Given the description of an element on the screen output the (x, y) to click on. 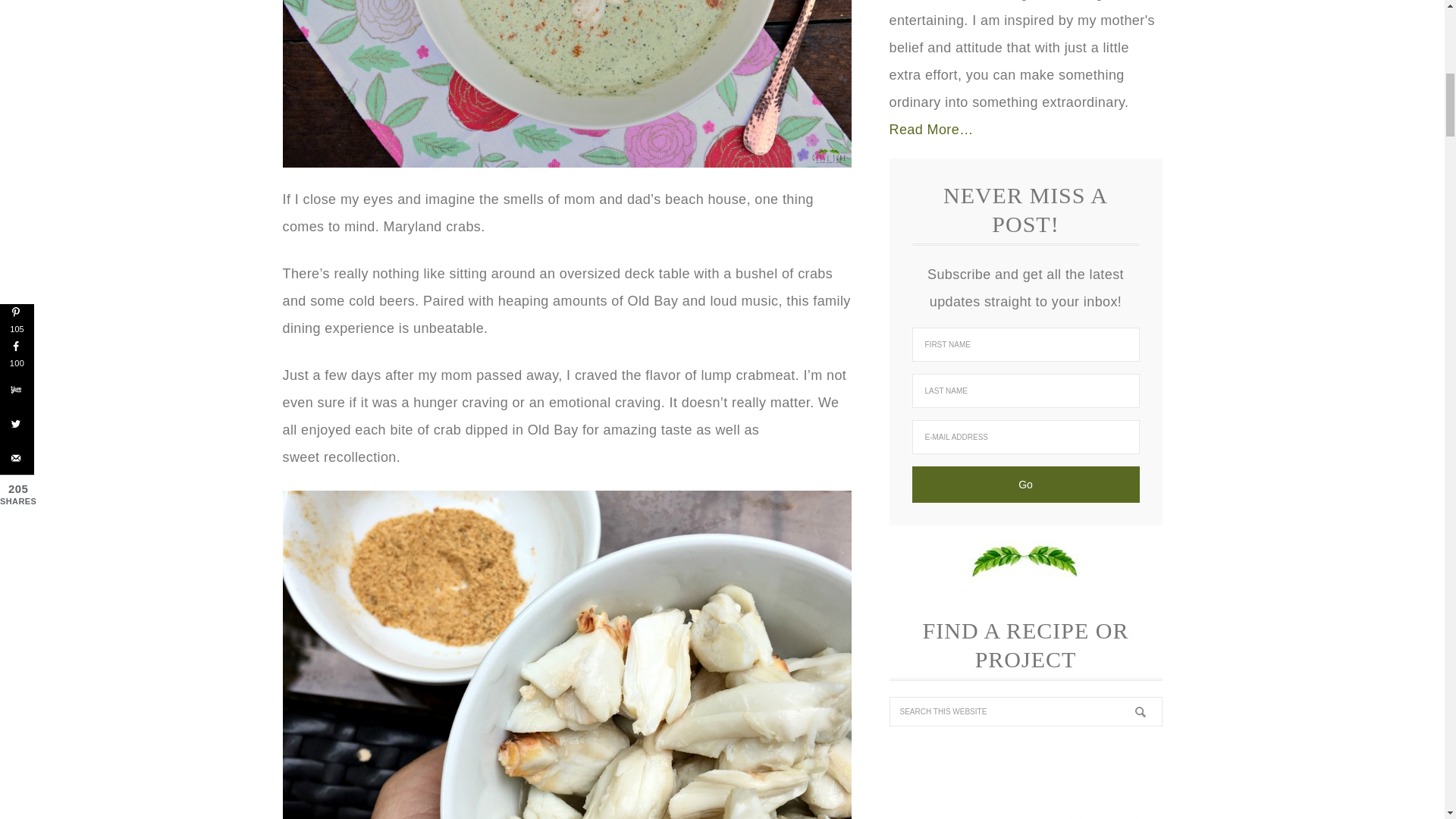
Go (1024, 484)
